Given the description of an element on the screen output the (x, y) to click on. 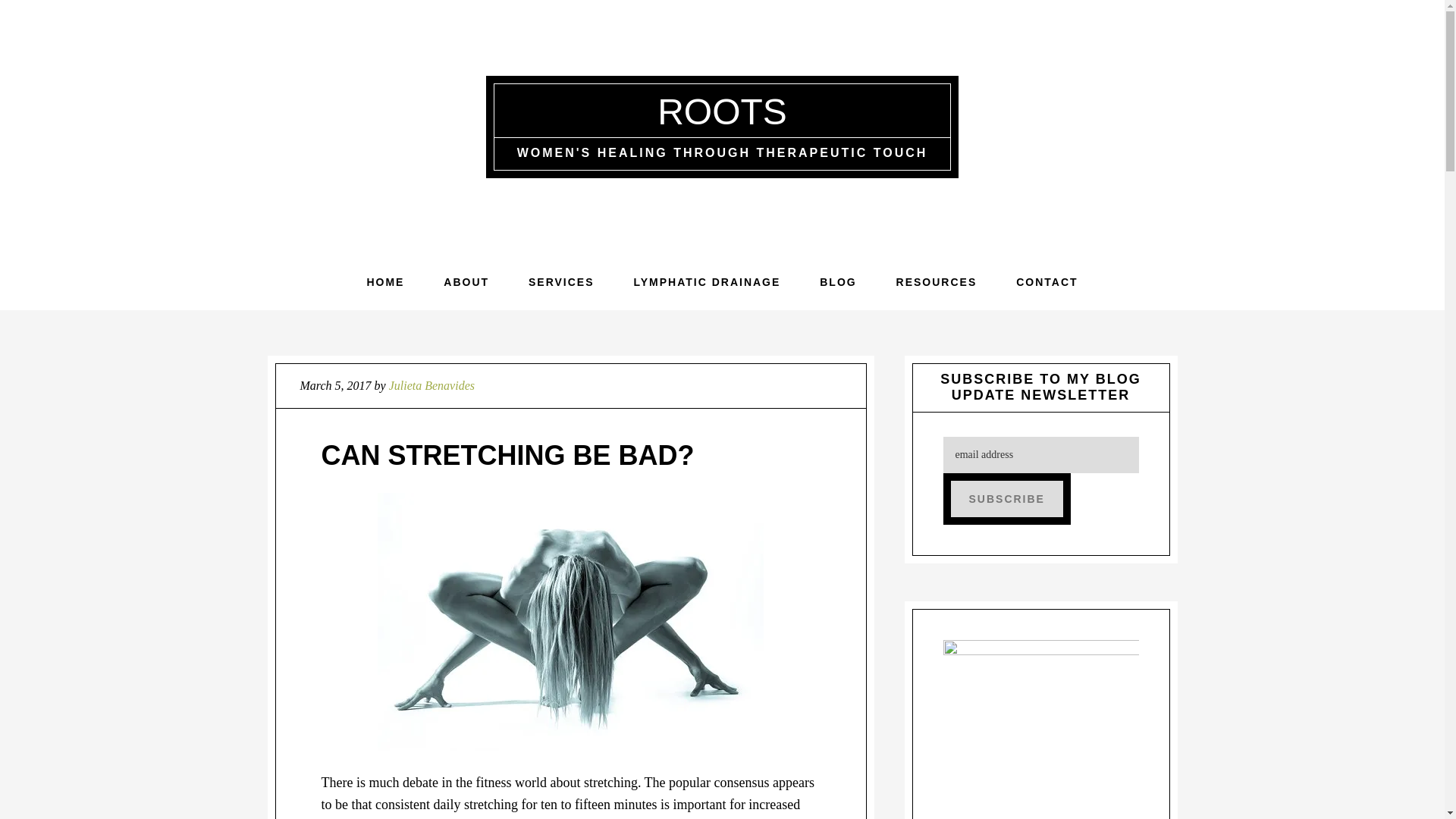
ABOUT (465, 281)
ROOTS (722, 111)
Subscribe (1006, 498)
BLOG (838, 281)
HOME (384, 281)
SERVICES (561, 281)
RESOURCES (936, 281)
CONTACT (1046, 281)
Julieta Benavides (431, 385)
